Given the description of an element on the screen output the (x, y) to click on. 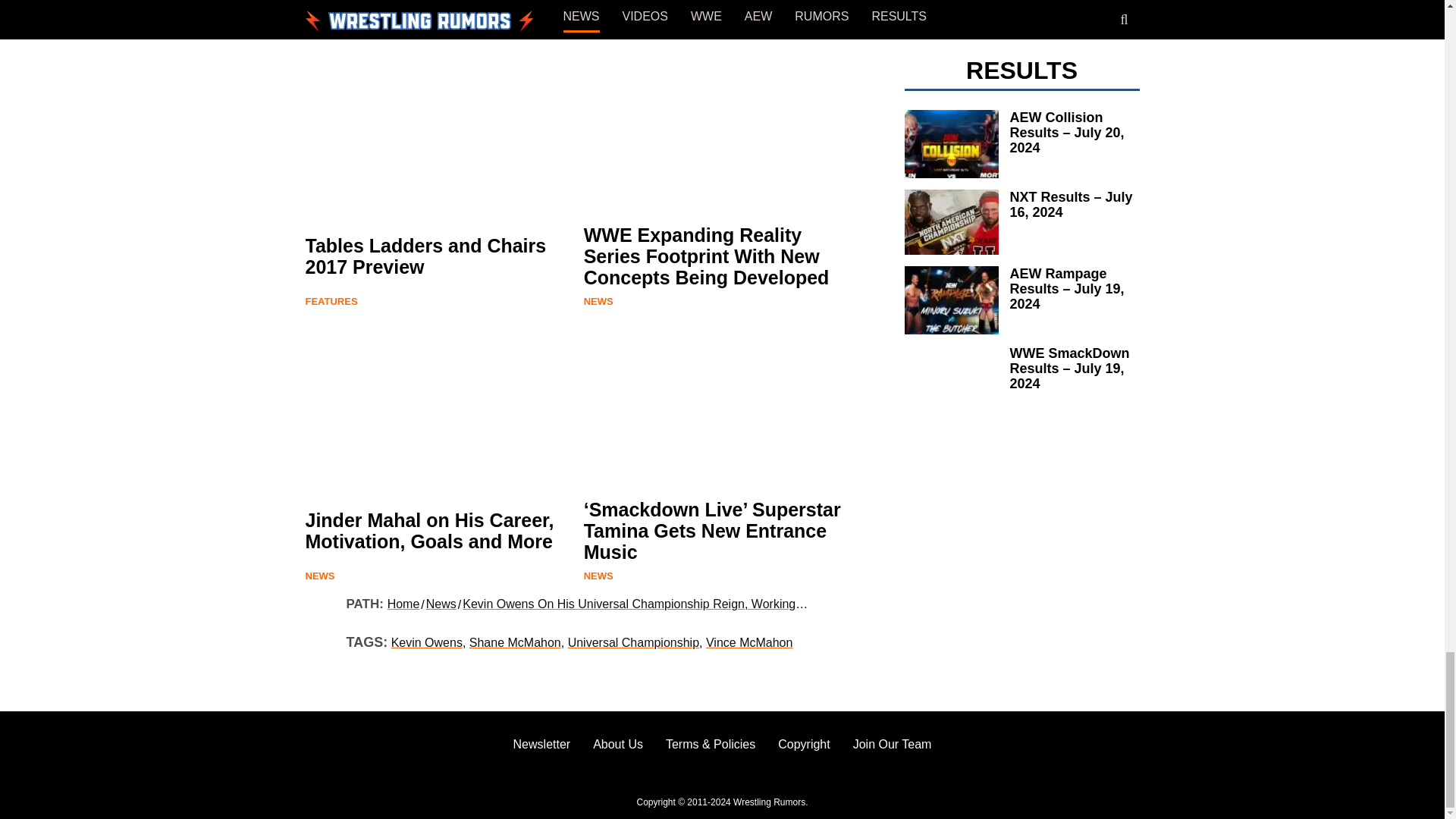
Features (330, 301)
News (319, 575)
News (597, 575)
News (319, 27)
News (597, 27)
News (597, 301)
